Given the description of an element on the screen output the (x, y) to click on. 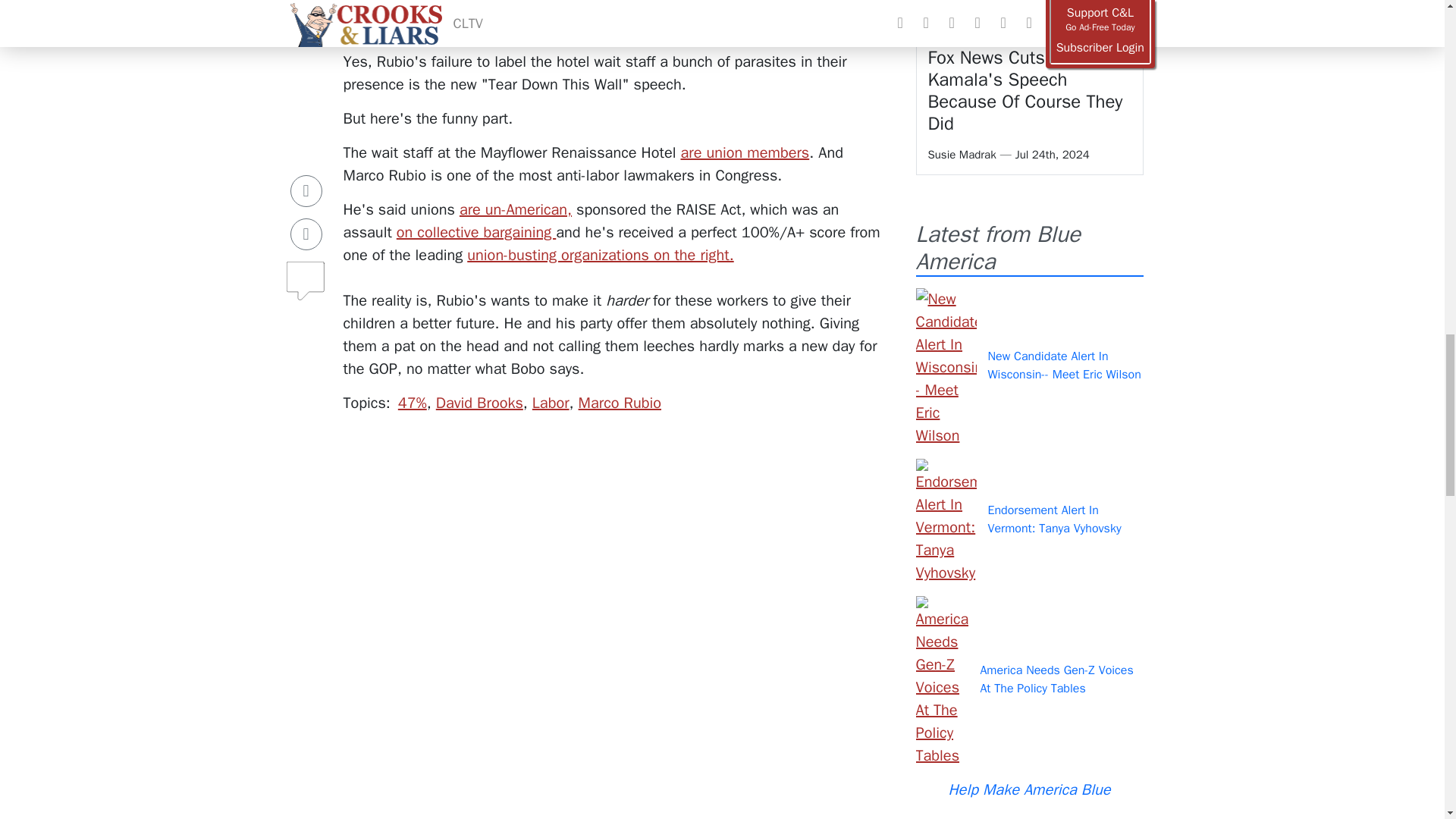
are union members (744, 152)
are un-American, (516, 209)
on collective bargaining (476, 231)
union-busting organizations on the right. (600, 254)
David Brooks (478, 402)
Labor (550, 402)
